Given the description of an element on the screen output the (x, y) to click on. 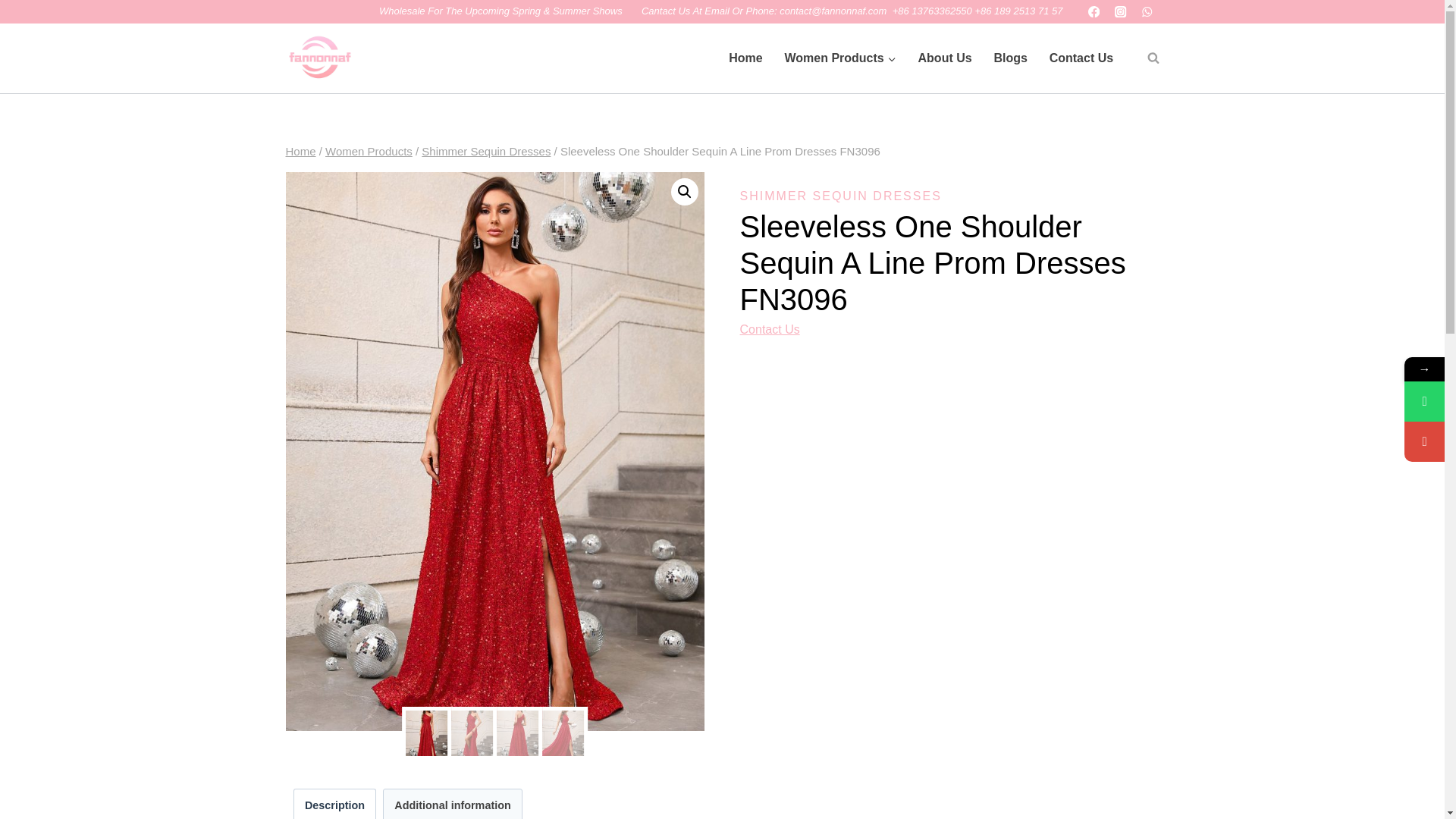
About Us (944, 57)
Home (745, 57)
Women Products (840, 57)
Women Products (368, 151)
Shimmer Sequin Dresses (486, 151)
Home (300, 151)
Contact Us (1081, 57)
Blogs (1010, 57)
